Given the description of an element on the screen output the (x, y) to click on. 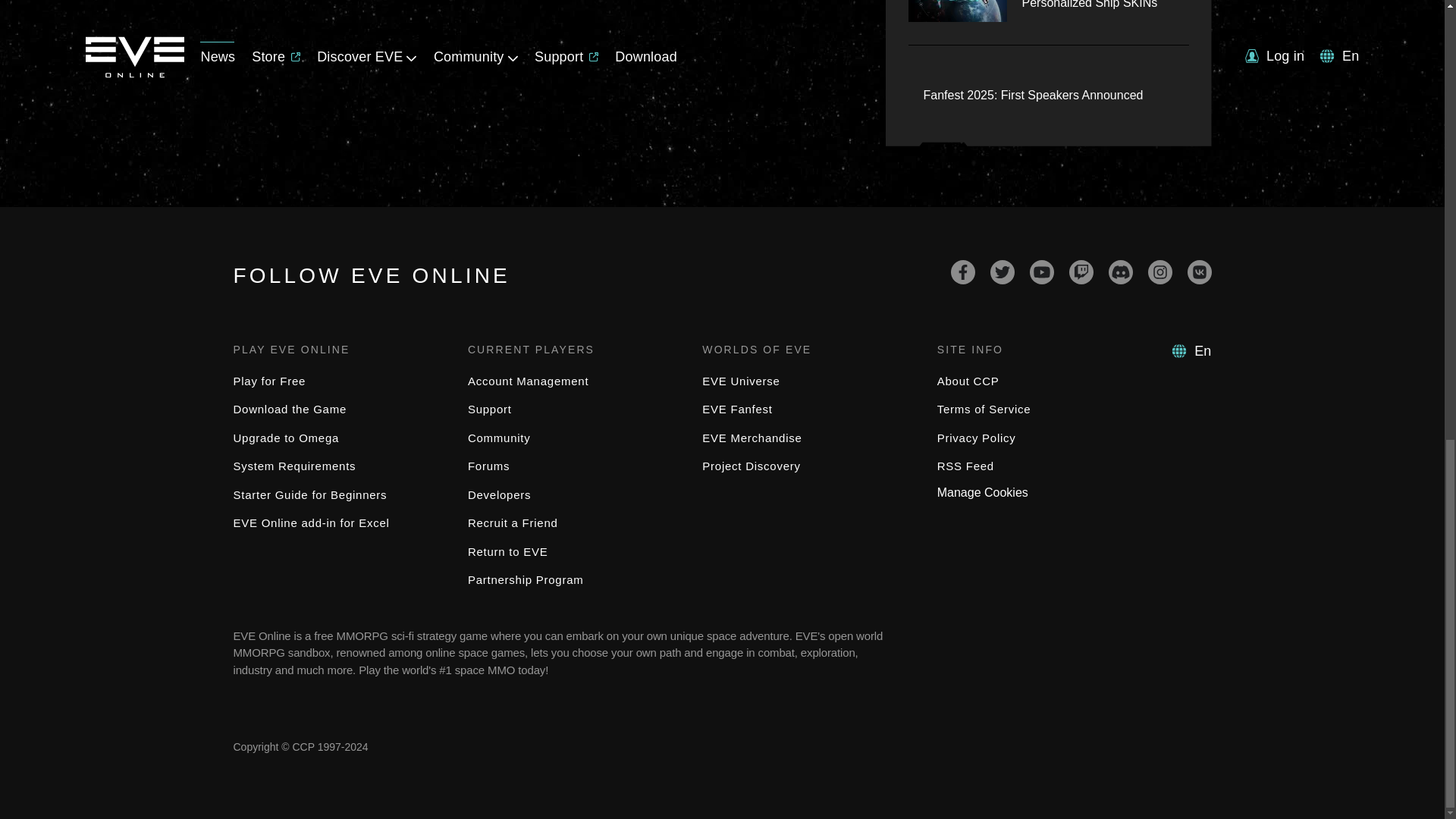
Instagram (1160, 272)
Discord (1120, 272)
YouTube (1041, 272)
Facebook (962, 272)
Twitch (1080, 272)
VK (1199, 272)
Twitter (1002, 272)
